Given the description of an element on the screen output the (x, y) to click on. 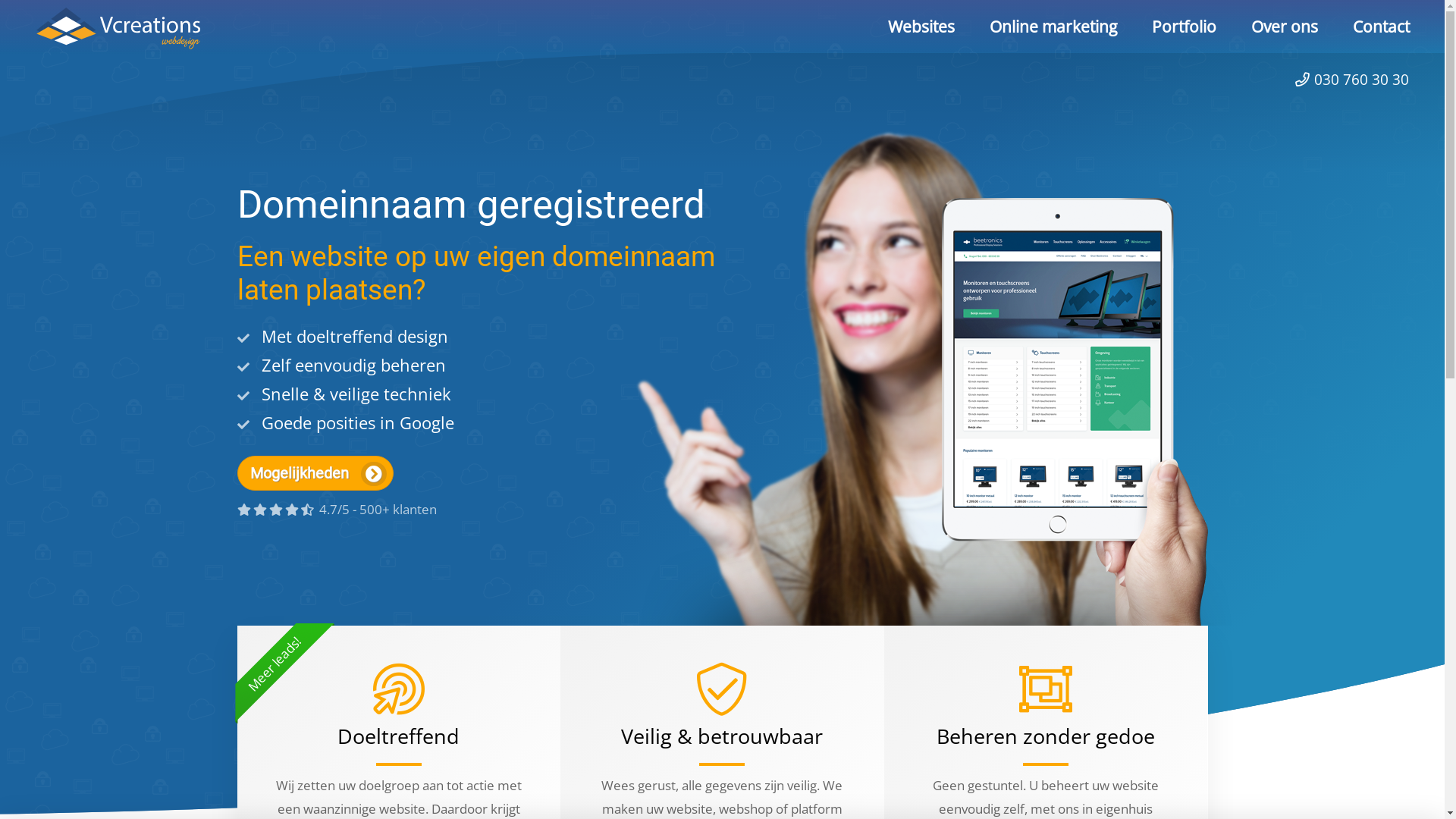
Blog Element type: hover (612, 671)
Website bouwer Element type: text (879, 427)
Webshop maken Element type: text (491, 427)
Webbouwer Element type: text (685, 530)
Twitter Element type: hover (715, 671)
Facebook Element type: hover (818, 671)
Nijmegen webbureau Element type: text (1073, 530)
Platform SAAS Element type: text (491, 479)
Advertentiesite Element type: text (296, 504)
NL Element type: text (1027, 388)
Website laten maken Element type: text (136, 28)
Mogelijkheden Element type: text (314, 472)
Webshop bouwen Element type: text (491, 530)
webdesign Element type: text (448, 790)
Vacaturesite Element type: text (296, 530)
Webdesign bureau Element type: text (879, 479)
Datingsite Element type: text (296, 427)
Vergelijkingssite Element type: text (296, 479)
Rotterdam webdesign Element type: text (1073, 479)
Makelaar website Element type: text (491, 504)
Amsterdam webdesign bureau Element type: text (1073, 504)
webshop Element type: text (745, 808)
Over ons Element type: text (1284, 29)
Portfolio Element type: text (1183, 29)
030 760 30 30 Element type: text (1351, 78)
Insta Element type: hover (767, 671)
Online marketing Element type: text (1053, 29)
Website laten maken Utrecht Element type: text (491, 453)
Privacyverklaring Element type: text (879, 790)
Webdesigner Element type: text (879, 530)
Veilingsite Element type: text (296, 453)
Websites Element type: text (921, 29)
Bedrijfswebsite Element type: text (685, 453)
Eindhoven website laten maken Element type: text (1073, 427)
Contact Element type: text (1373, 29)
platform Element type: text (816, 808)
Internetbureau Element type: text (879, 453)
Website maker Element type: text (685, 479)
BE Element type: text (1082, 388)
Voorwaarden Element type: text (1073, 790)
LinkedIn Element type: hover (664, 671)
Websites voor bedrijven Element type: text (685, 427)
Website designer Element type: text (879, 504)
Den Haag website laten bouwen Element type: text (1073, 453)
Online platform opzetten Element type: text (685, 504)
